Given the description of an element on the screen output the (x, y) to click on. 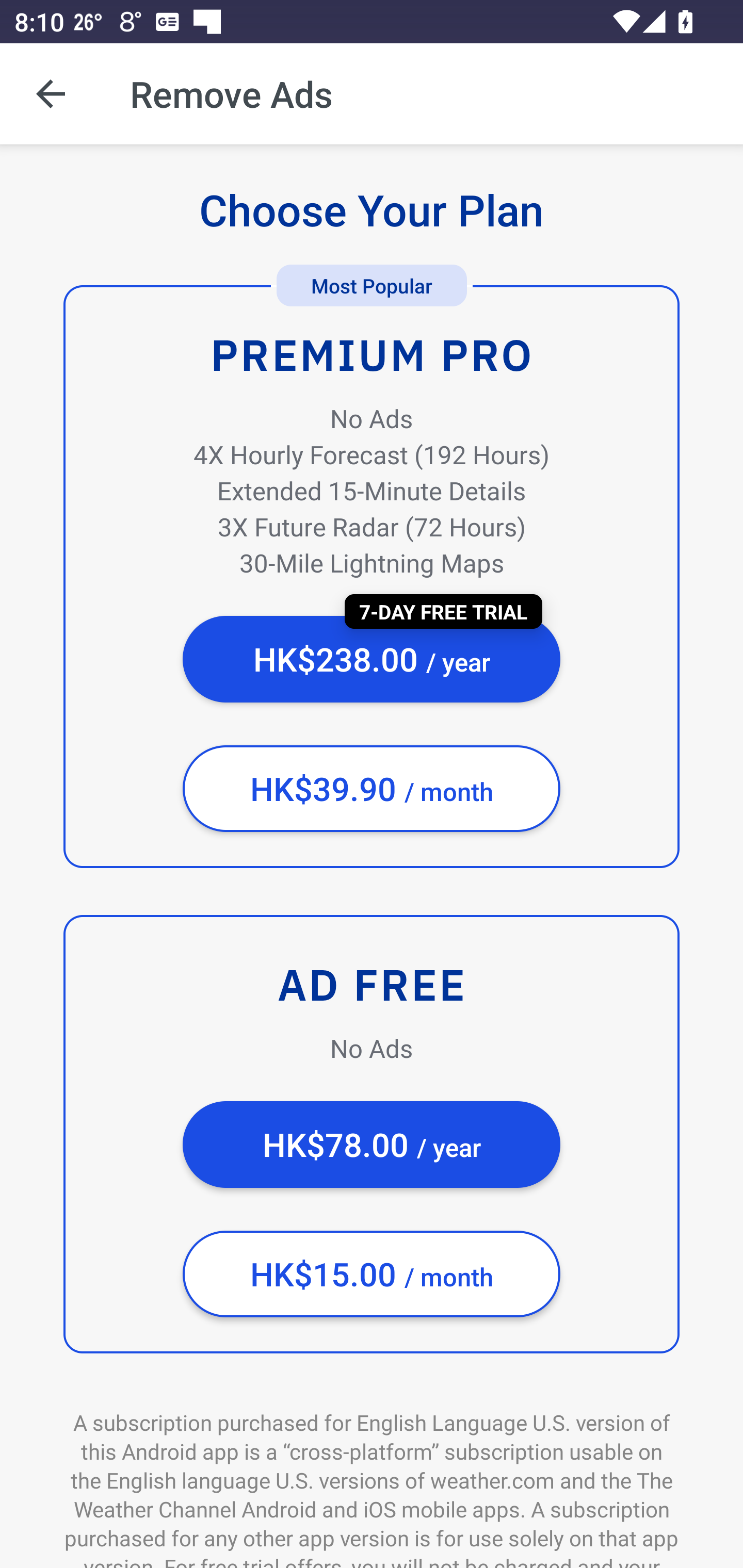
Navigate up (50, 93)
HK$238.00 / year (371, 659)
HK$39.90 / month (371, 788)
HK$78.00 / year (371, 1144)
HK$15.00 / month (371, 1273)
